Given the description of an element on the screen output the (x, y) to click on. 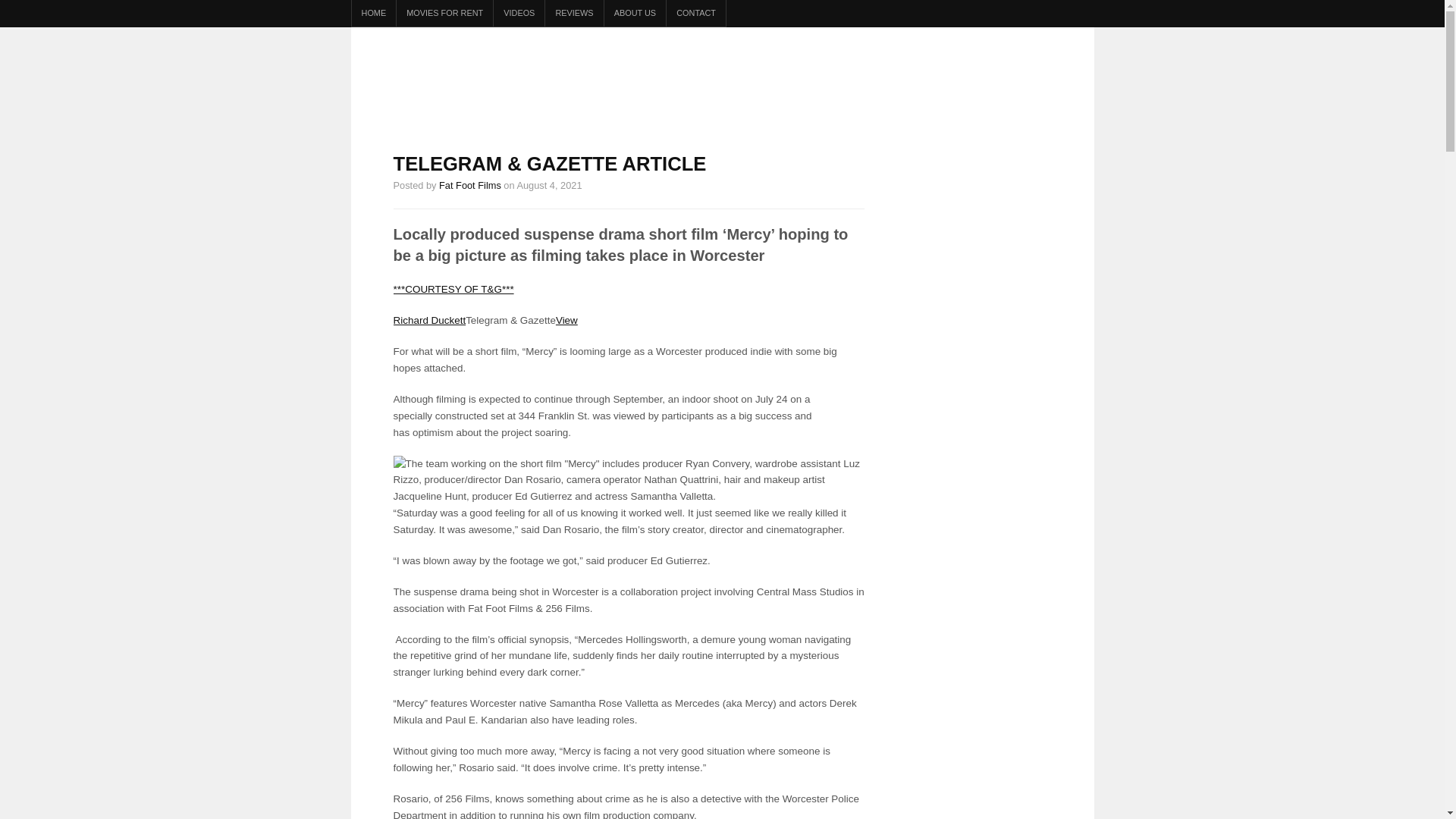
Richard Duckett (429, 319)
View (567, 319)
VIDEOS (518, 13)
ABOUT US (635, 13)
REVIEWS (573, 13)
Fat Foot Films (469, 184)
CONTACT (695, 13)
Fat Foot Films (469, 184)
HOME (374, 13)
MOVIES FOR RENT (444, 13)
